Given the description of an element on the screen output the (x, y) to click on. 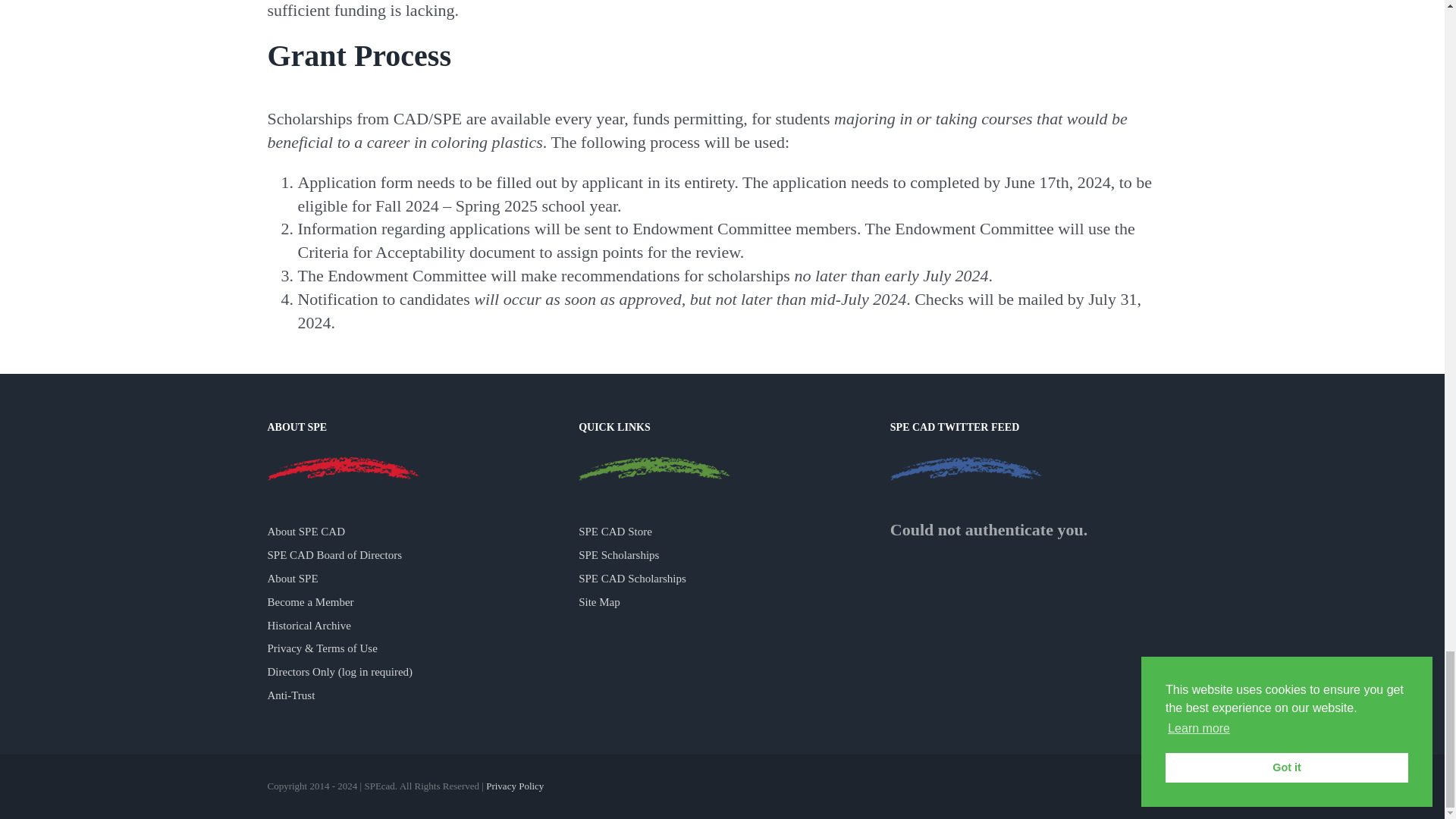
About SPE (342, 468)
